Given the description of an element on the screen output the (x, y) to click on. 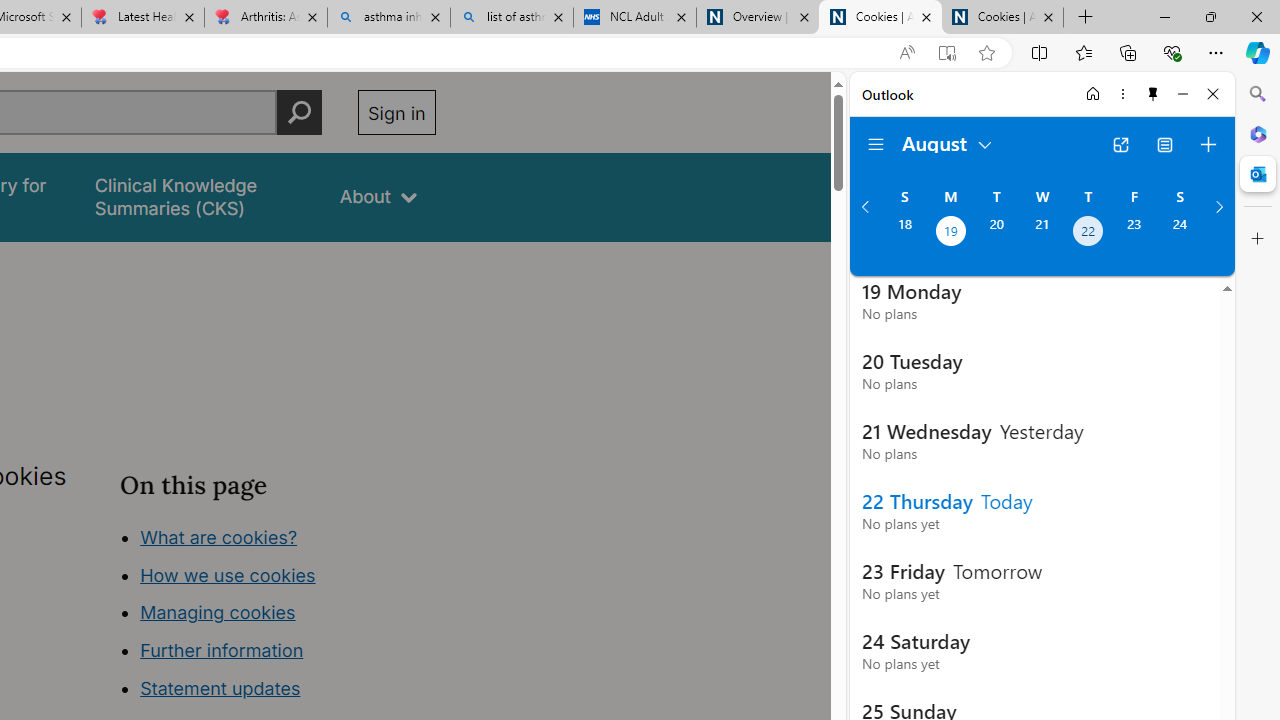
Further information (221, 650)
Saturday, August 24, 2024.  (1180, 233)
Monday, August 19, 2024. Date selected.  (950, 233)
Sign in (396, 112)
About (378, 196)
Sunday, August 18, 2024.  (904, 233)
About (378, 196)
NCL Adult Asthma Inhaler Choice Guideline (634, 17)
false (198, 196)
